Given the description of an element on the screen output the (x, y) to click on. 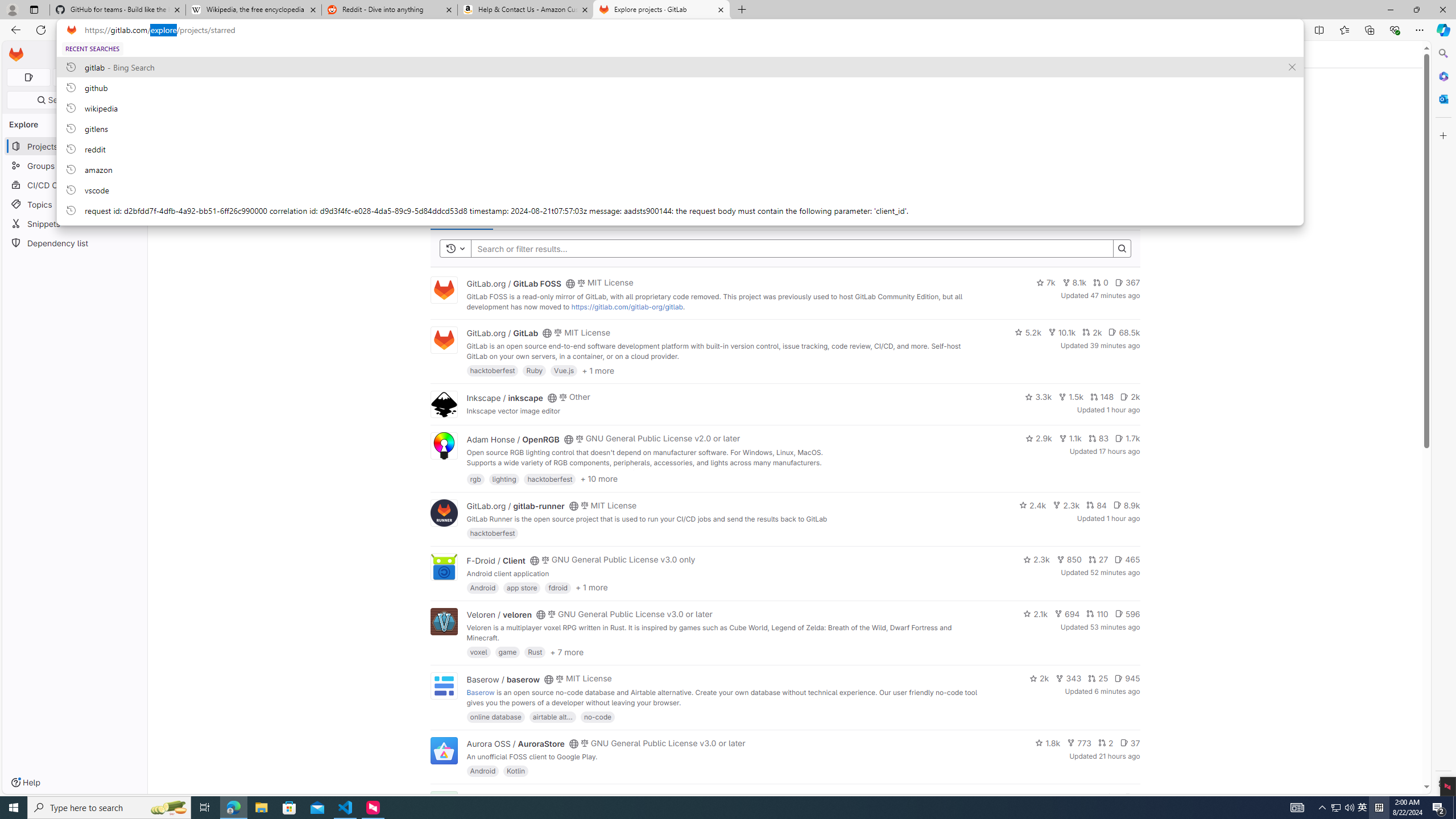
To-Do list 0 (120, 76)
Ruby (533, 370)
850 (1068, 559)
Dependency list (74, 242)
Class: project (443, 750)
Topics (74, 203)
hacktoberfest (492, 533)
Toggle history (455, 248)
Veloren / veloren (498, 614)
Projects (211, 53)
